Given the description of an element on the screen output the (x, y) to click on. 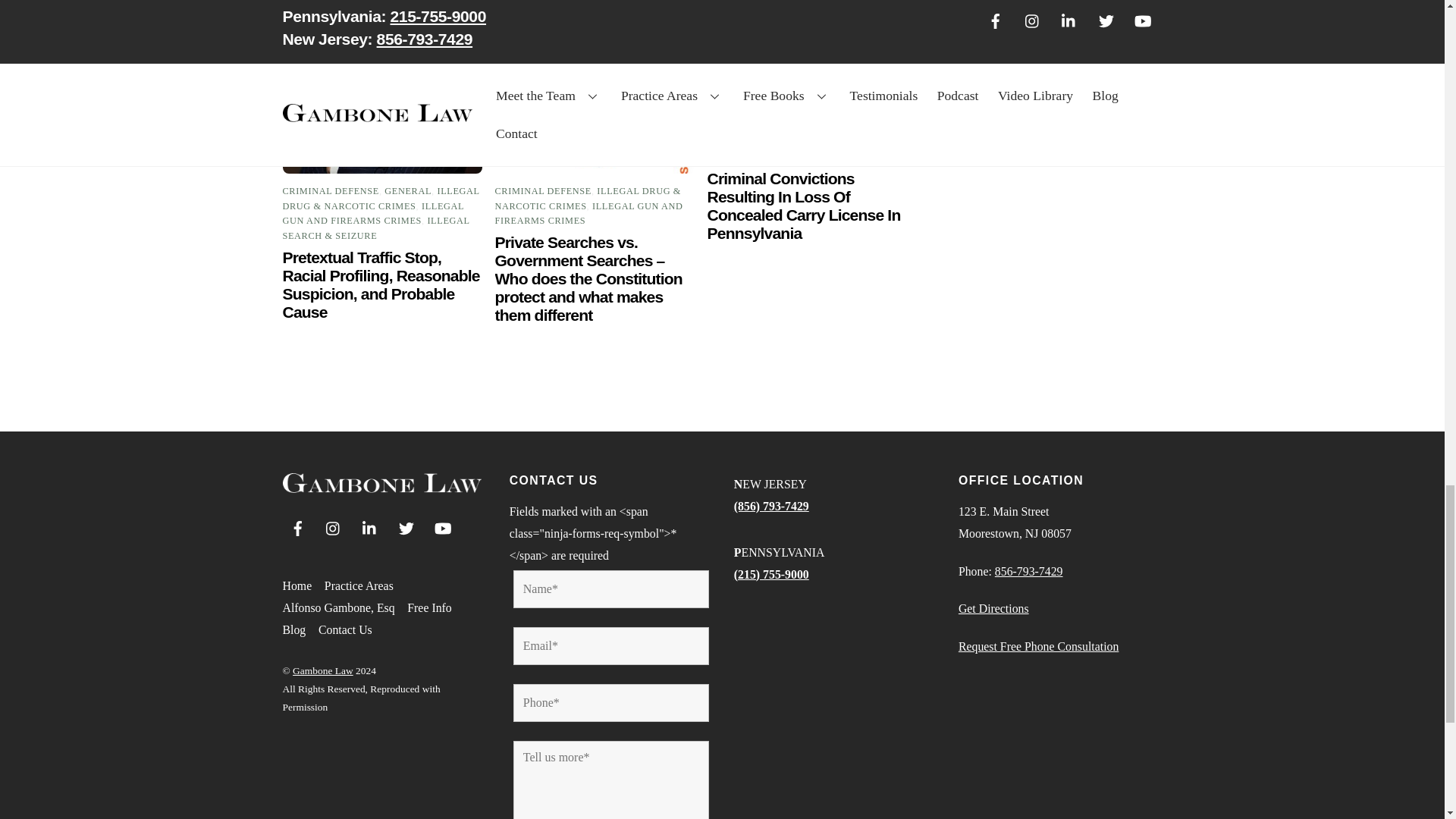
Gambone Law (381, 486)
philadelphia criminal defense attorneys (381, 89)
Search warrant background concept wordcloud (595, 89)
